Given the description of an element on the screen output the (x, y) to click on. 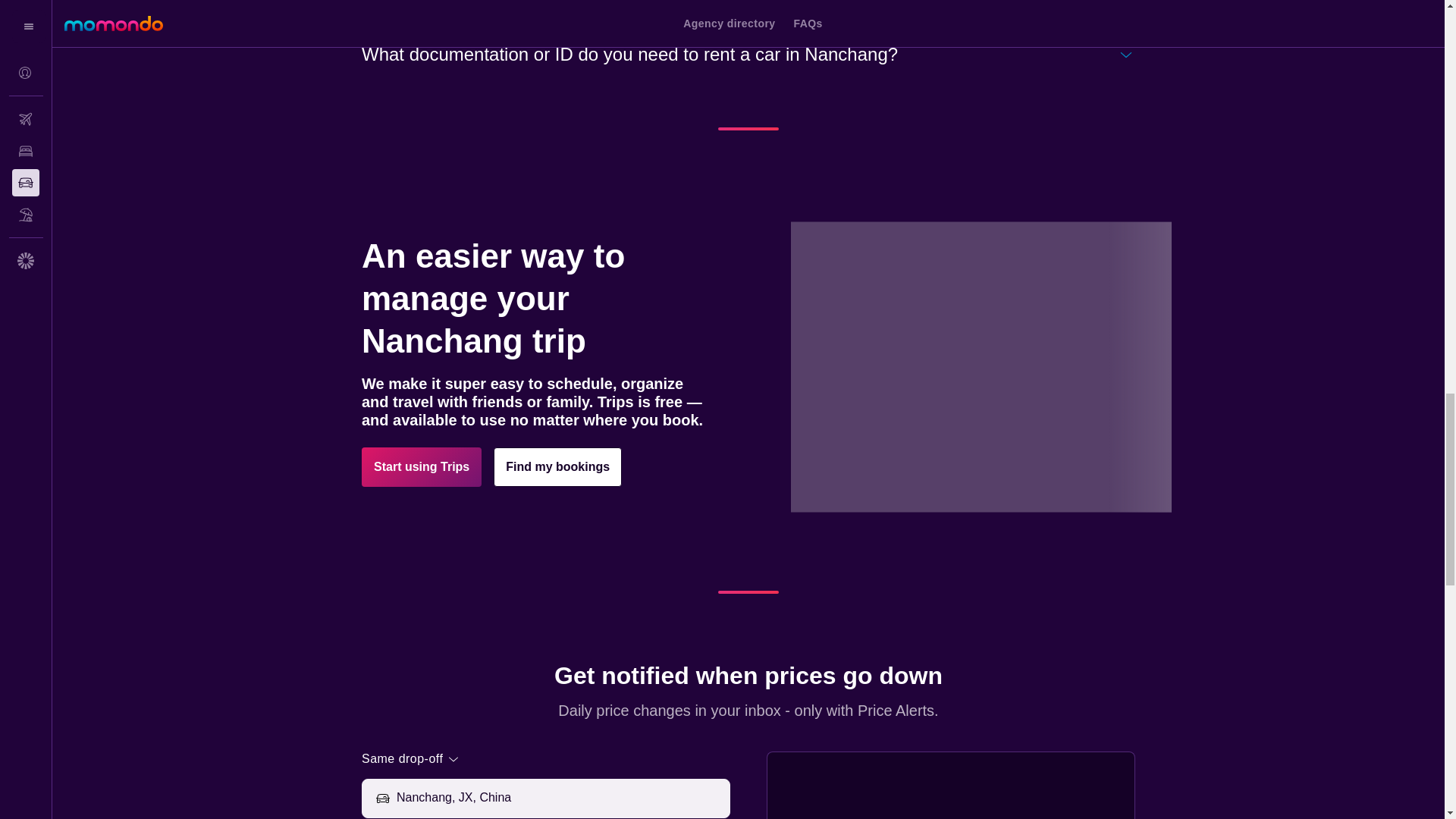
Start using Trips (421, 466)
Find my bookings (557, 466)
Nanchang, JX, China (559, 798)
